Given the description of an element on the screen output the (x, y) to click on. 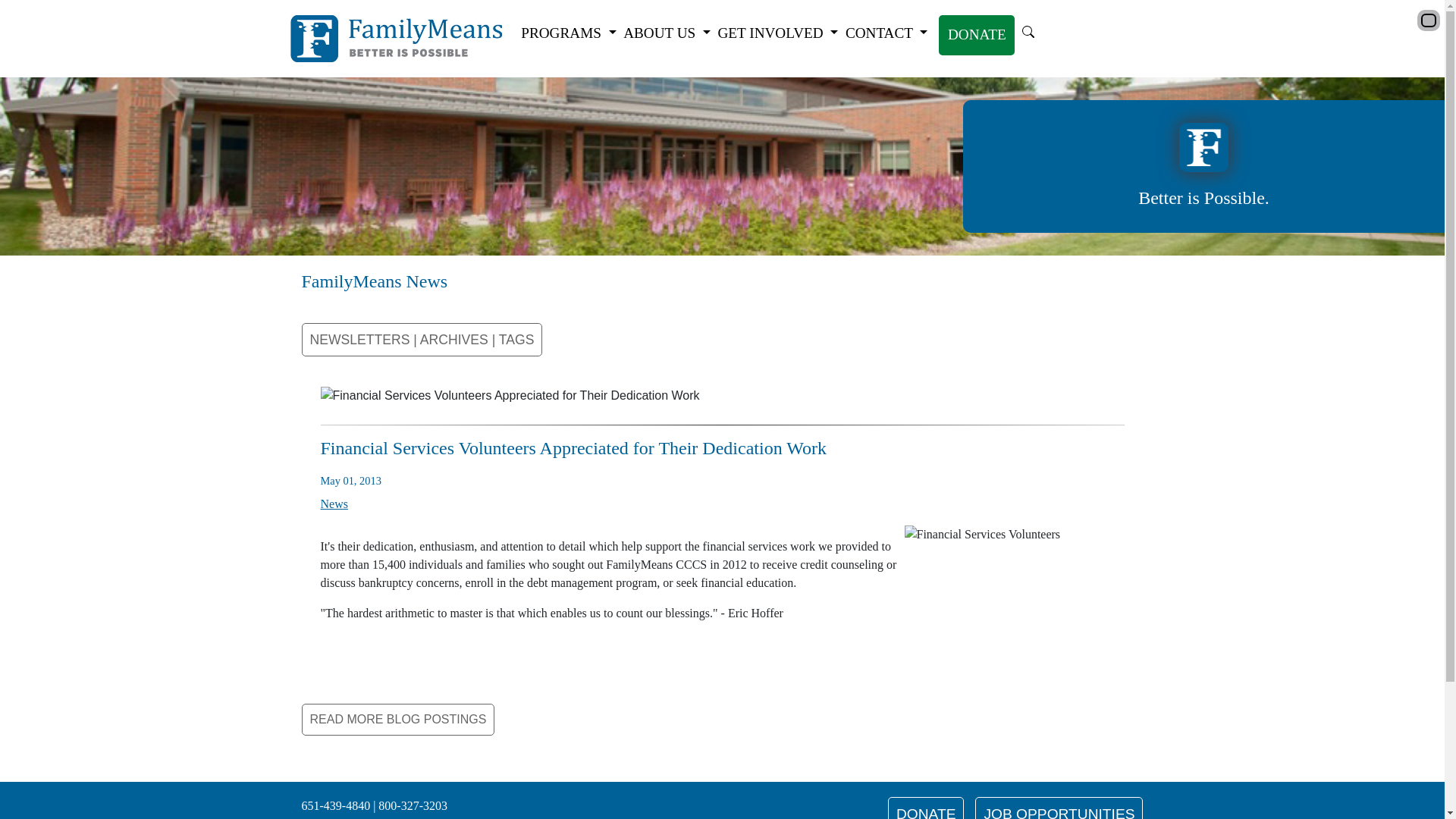
PROGRAMS (568, 33)
Accessibility Menu (1427, 20)
